Given the description of an element on the screen output the (x, y) to click on. 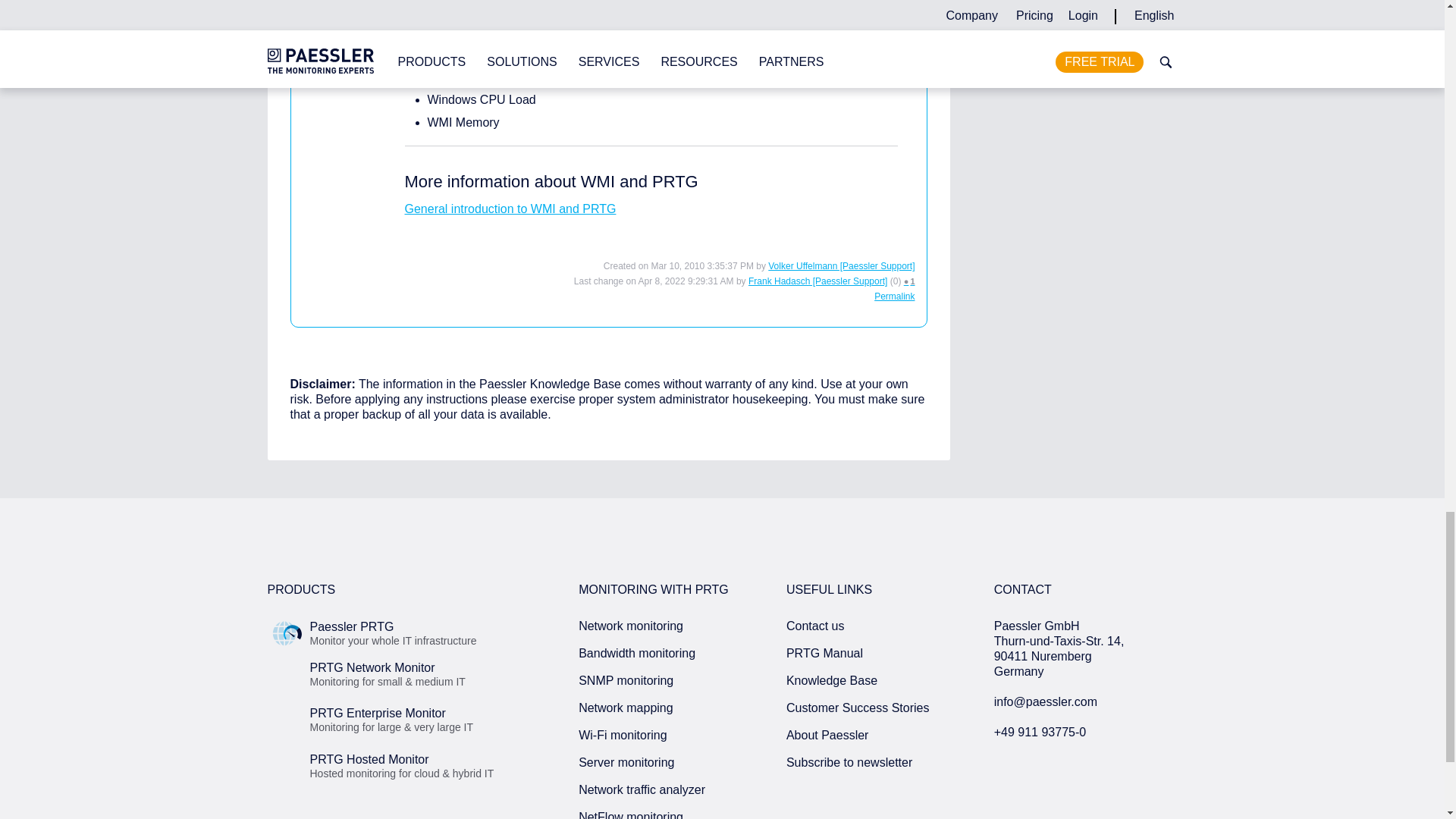
Badges of this user (909, 281)
Profile of this user (841, 266)
Permalink to this reply (894, 296)
Profile of this user (817, 281)
